Given the description of an element on the screen output the (x, y) to click on. 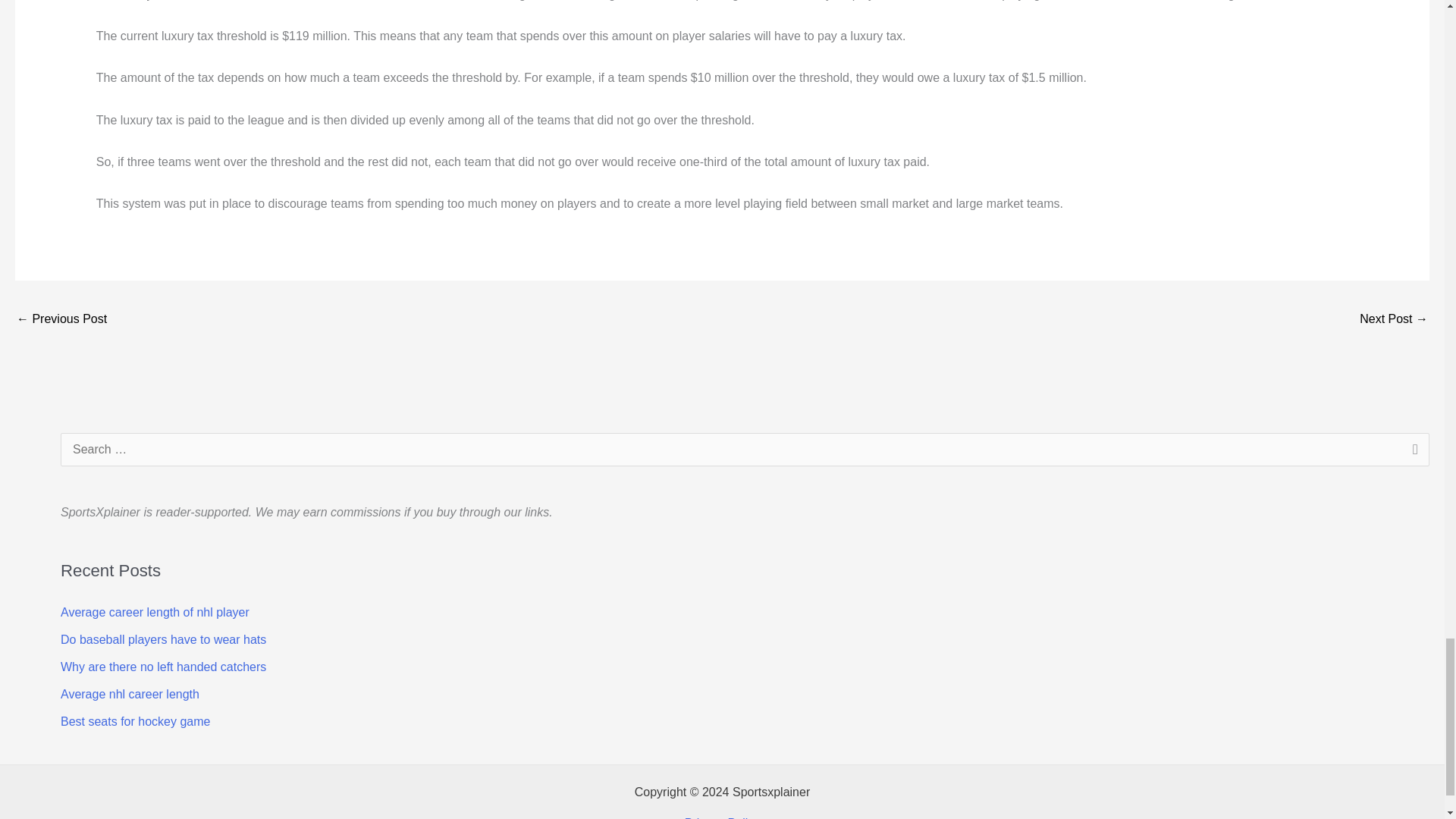
Basketball Vs Volleyball - What Is The Difference? (1393, 320)
Privacy Policy (722, 817)
Do baseball players have to wear hats (163, 639)
Average career length of nhl player (154, 612)
Average nhl career length (130, 694)
Why are there no left handed catchers (163, 666)
Best seats for hockey game (135, 721)
